Given the description of an element on the screen output the (x, y) to click on. 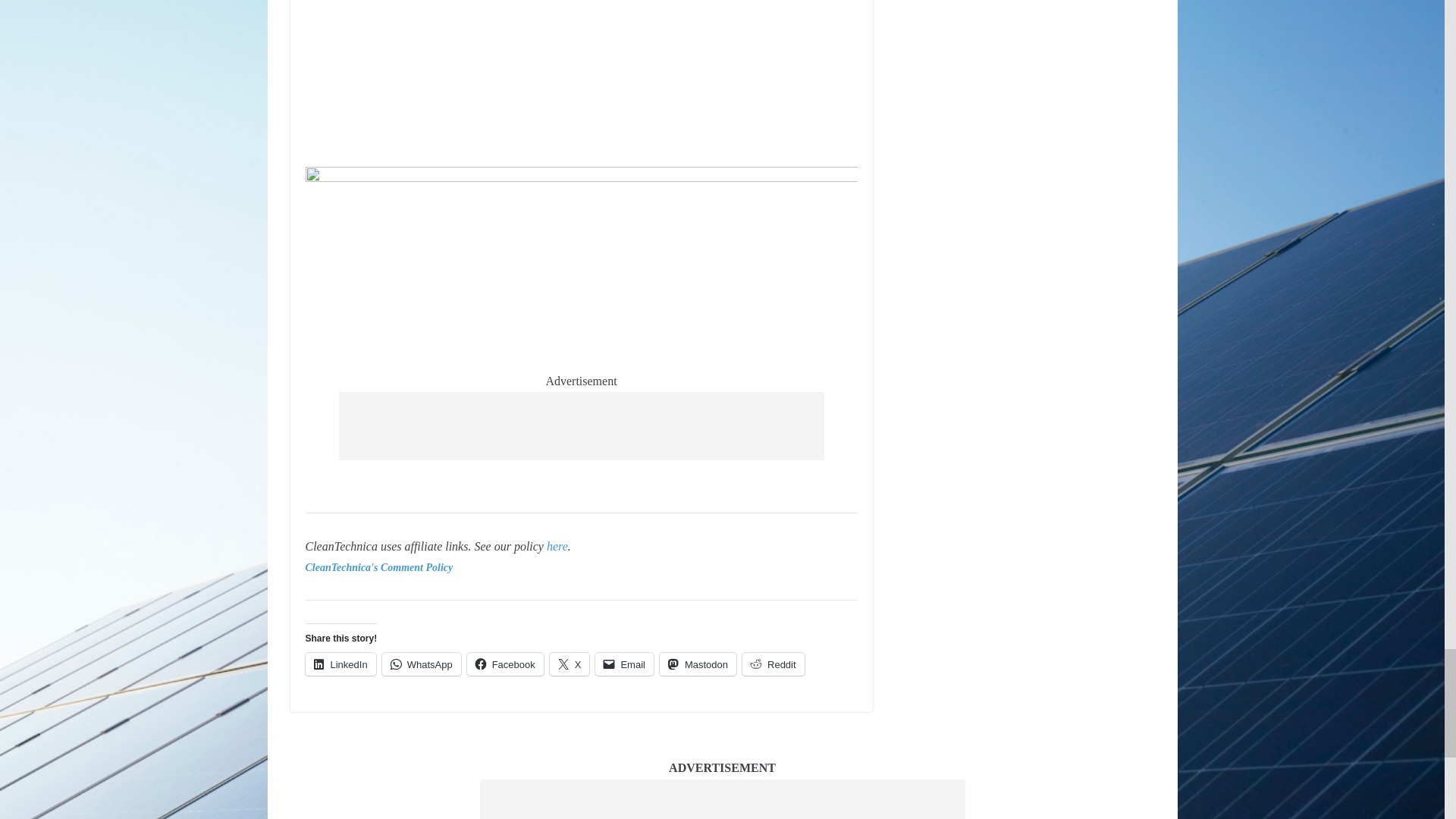
Click to share on Mastodon (697, 663)
Click to share on Facebook (505, 663)
Click to share on Reddit (773, 663)
YouTube video player (580, 79)
Click to share on LinkedIn (339, 663)
Click to email a link to a friend (624, 663)
Click to share on X (569, 663)
Click to share on WhatsApp (421, 663)
